Given the description of an element on the screen output the (x, y) to click on. 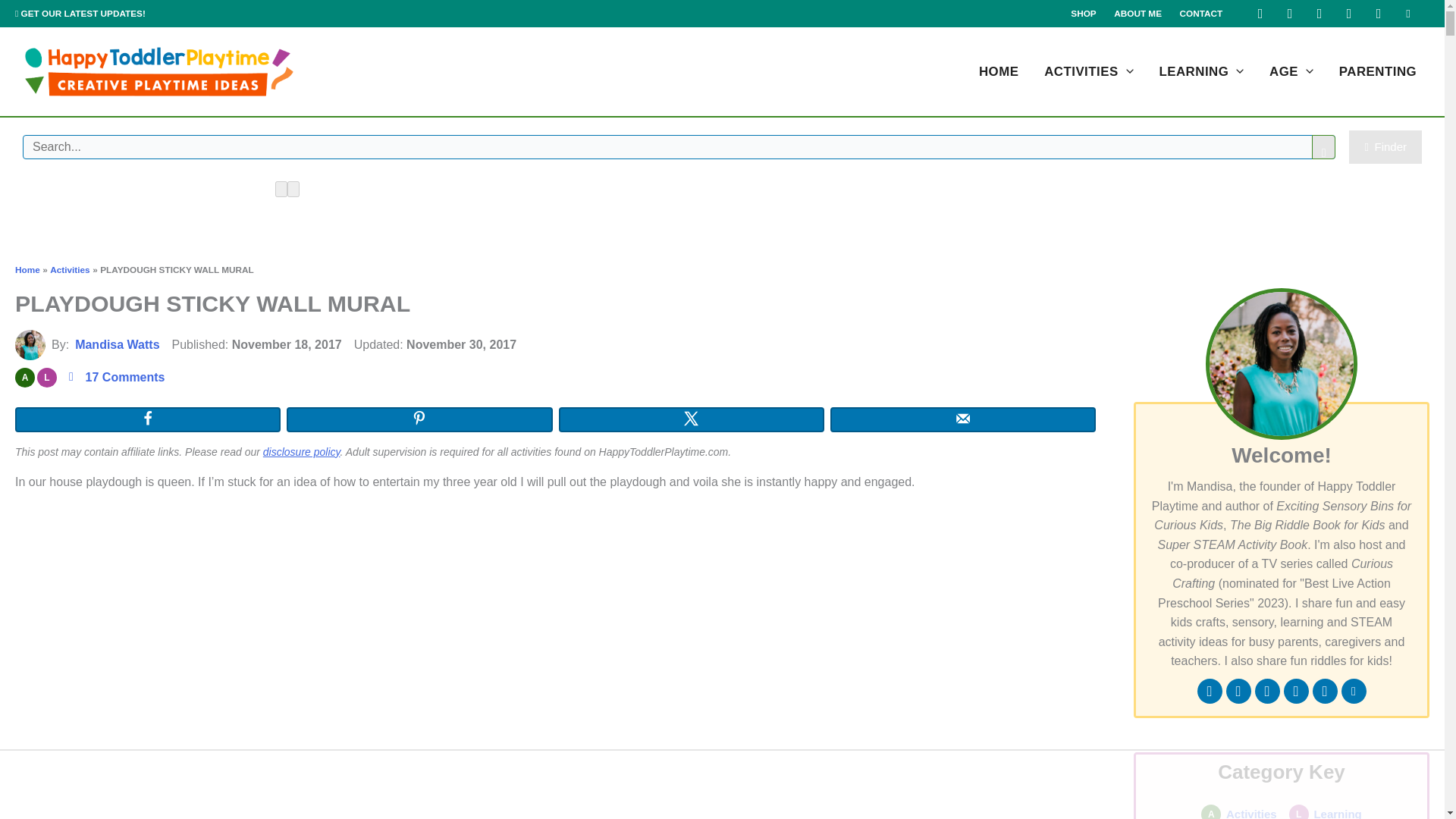
AGE (1291, 70)
Mandisa Watts (29, 343)
Finder (1385, 146)
Tiktok (1348, 13)
ACTIVITIES (1087, 70)
Facebook (1260, 13)
Pinterest (1319, 13)
Youtube (1378, 13)
Instagram (1289, 13)
HOME (998, 70)
